Given the description of an element on the screen output the (x, y) to click on. 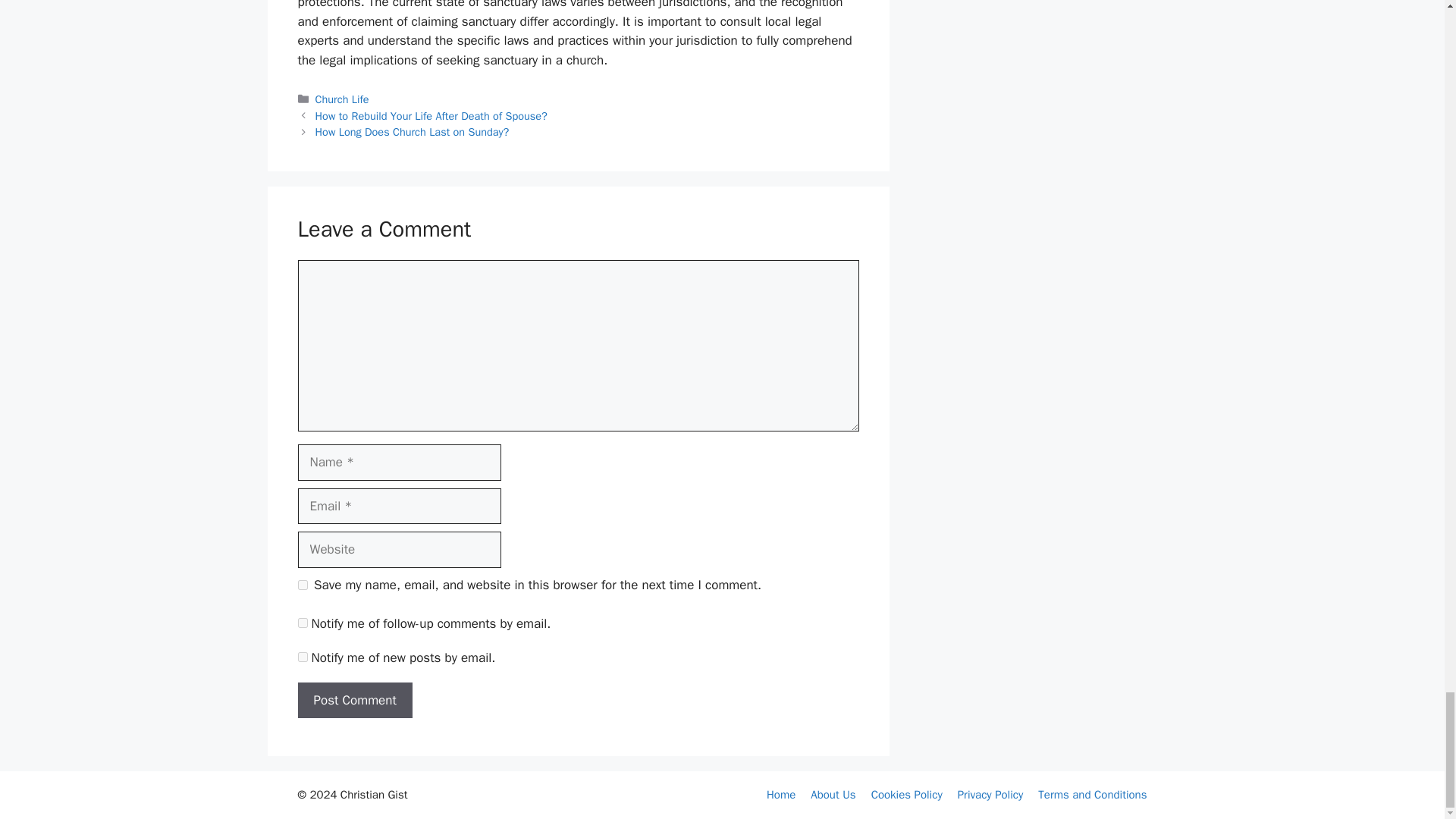
subscribe (302, 623)
Post Comment (354, 700)
How Long Does Church Last on Sunday? (412, 131)
How to Rebuild Your Life After Death of Spouse? (431, 115)
subscribe (302, 656)
Post Comment (354, 700)
yes (302, 584)
Church Life (342, 99)
